Given the description of an element on the screen output the (x, y) to click on. 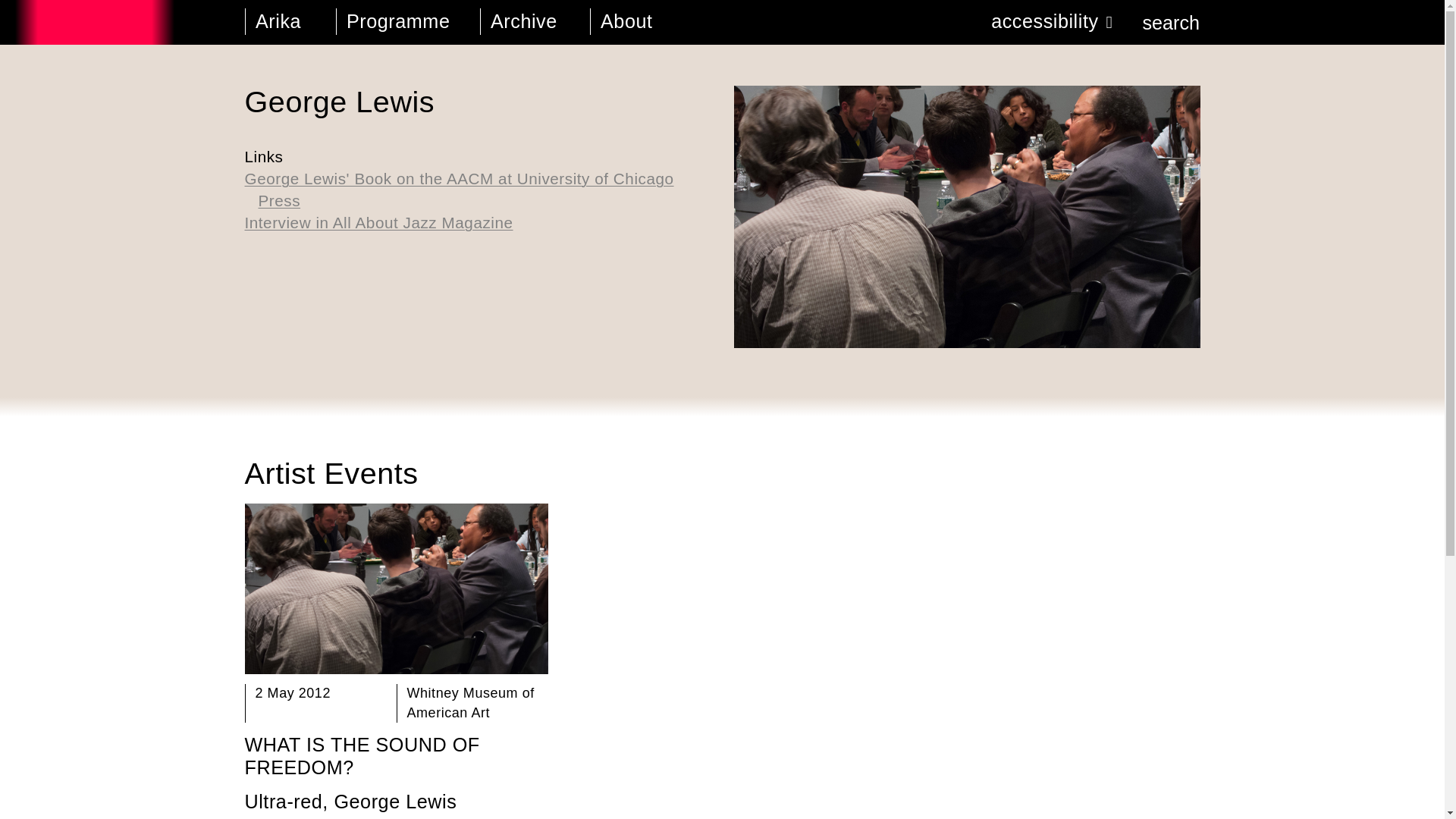
Arika (280, 22)
WHAT IS THE SOUND OF FREEDOM? (361, 755)
search (1155, 22)
Programme (398, 22)
Interview in All About Jazz Magazine (477, 223)
Archive (524, 22)
About (649, 22)
accessibility (1046, 22)
